Given the description of an element on the screen output the (x, y) to click on. 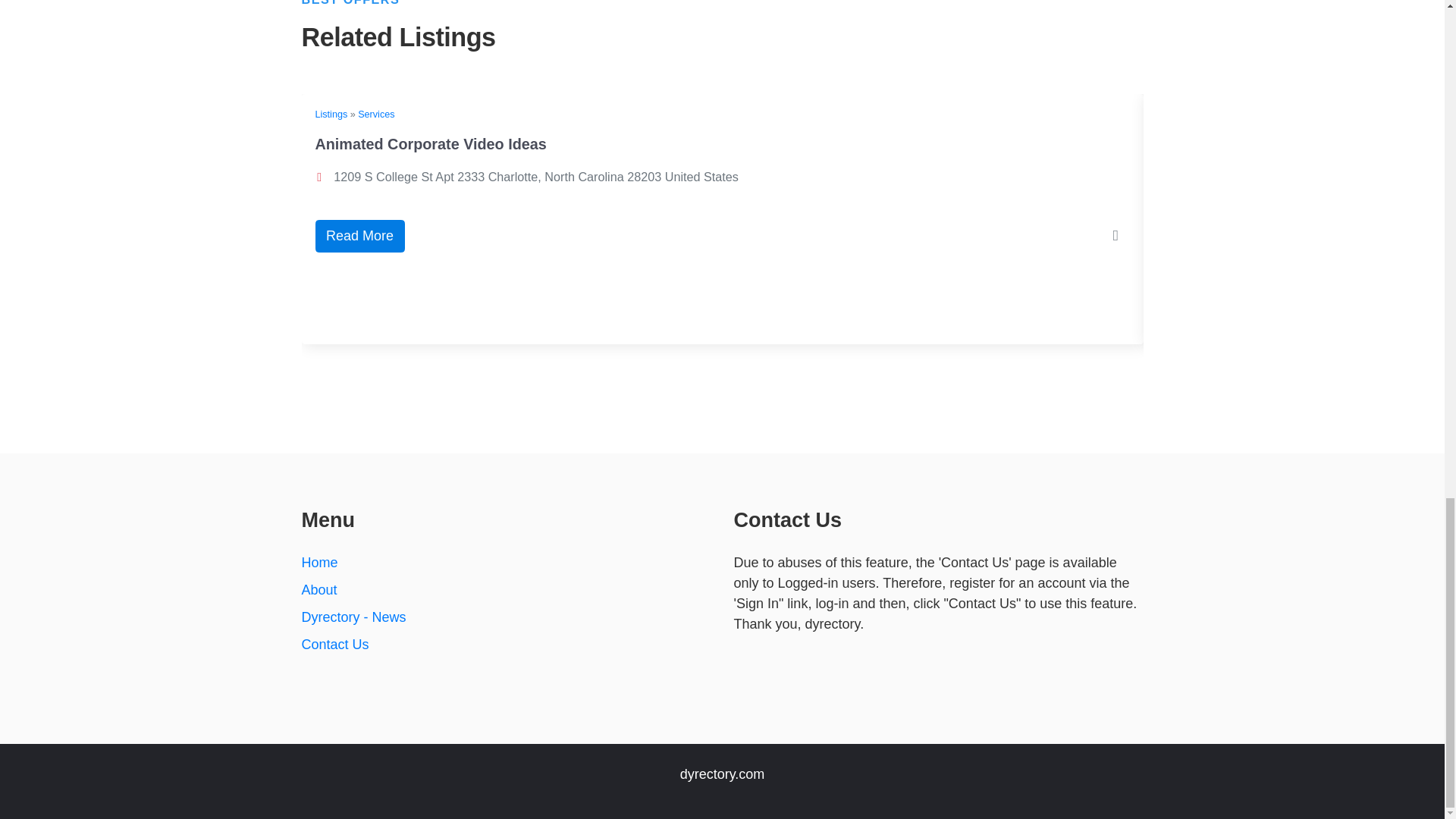
Animated Corporate Video Ideas (431, 143)
Read More (359, 236)
Listings (331, 113)
Services (376, 113)
